Given the description of an element on the screen output the (x, y) to click on. 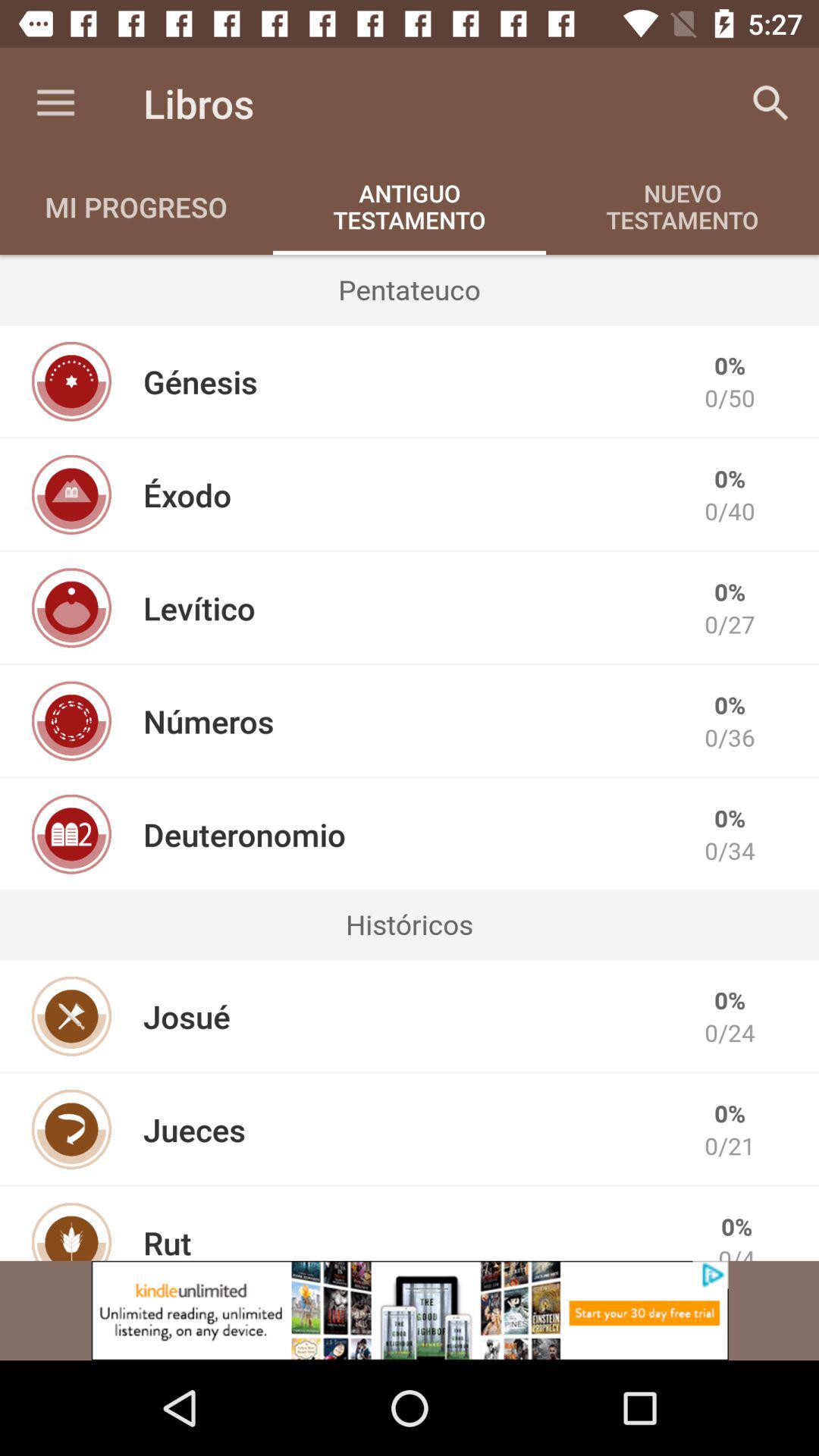
click the item to the left of the libros icon (55, 103)
